Given the description of an element on the screen output the (x, y) to click on. 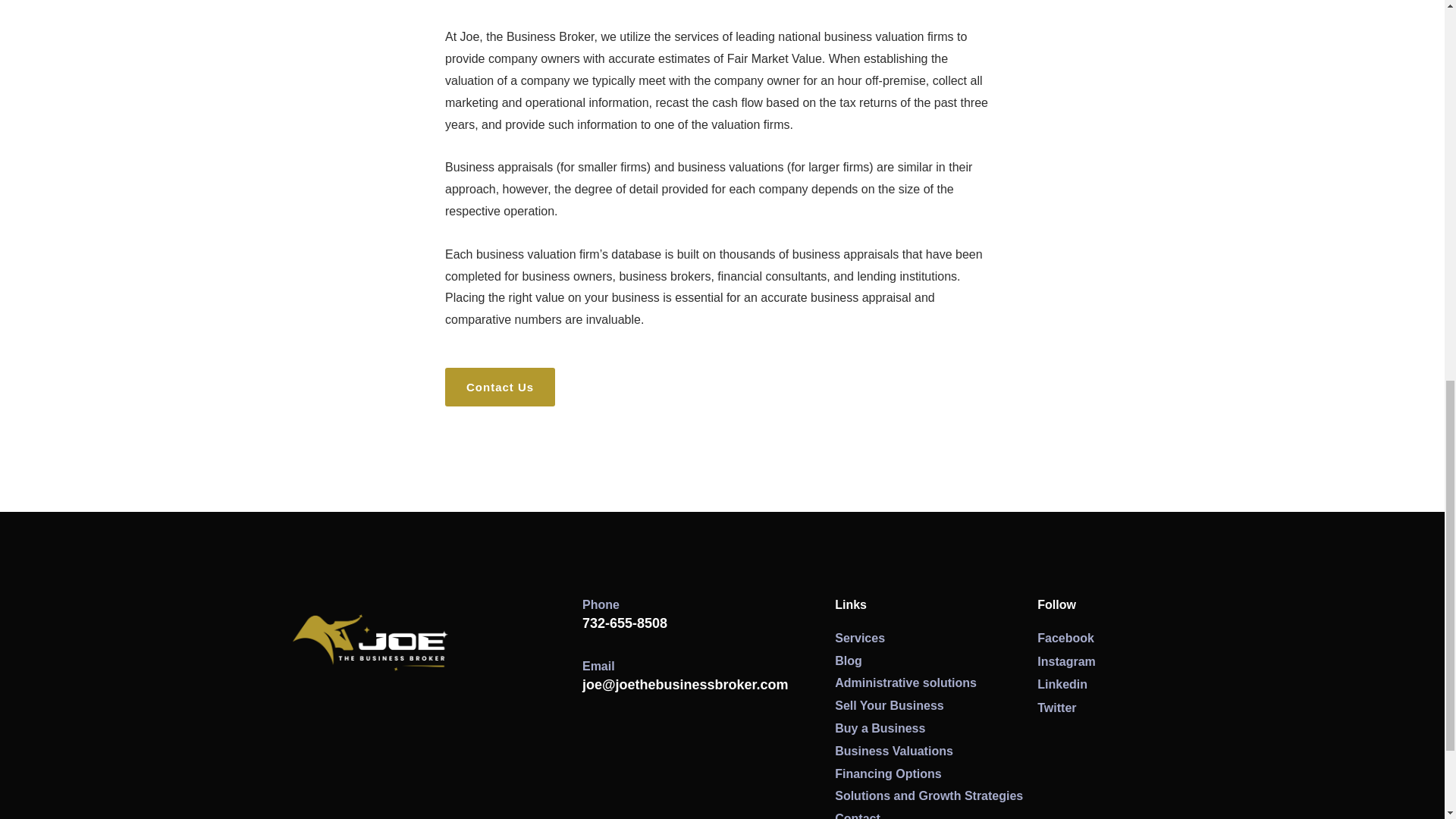
Sell Your Business (935, 706)
Contact Us (499, 386)
Administrative solutions (935, 683)
732-655-8508 (624, 622)
Blog (935, 661)
Services (935, 639)
